Given the description of an element on the screen output the (x, y) to click on. 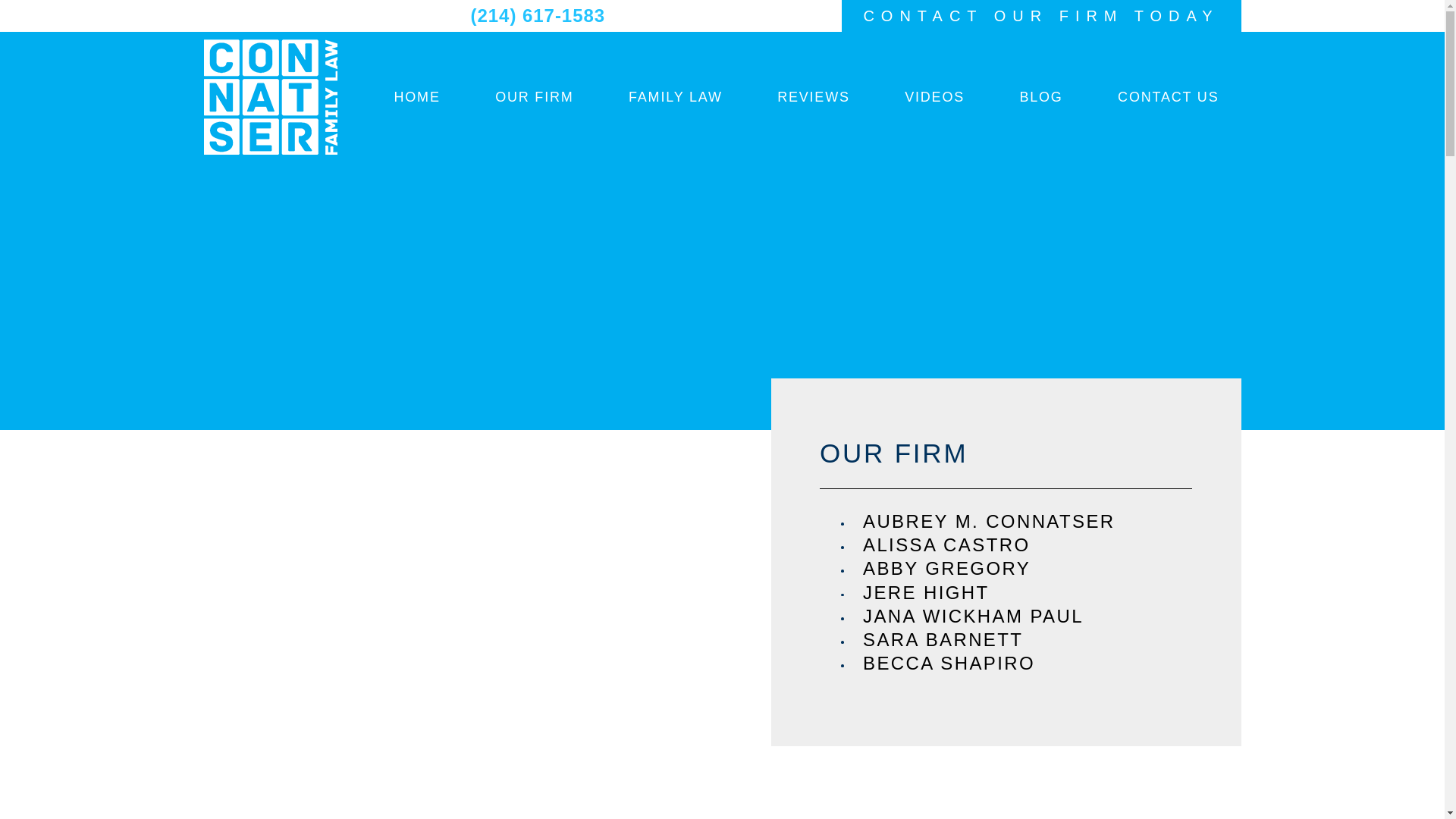
HOME (416, 97)
Open the accessibility options menu (1423, 798)
Connaster Family Law (269, 96)
OUR FIRM (534, 97)
VIDEOS (934, 97)
CONTACT OUR FIRM TODAY (1041, 15)
ALISSA CASTRO (1027, 544)
CONTACT US (1168, 97)
REVIEWS (813, 97)
BLOG (1040, 97)
FAMILY LAW (675, 97)
OUR FIRM (1005, 453)
AUBREY M. CONNATSER (1027, 521)
